Given the description of an element on the screen output the (x, y) to click on. 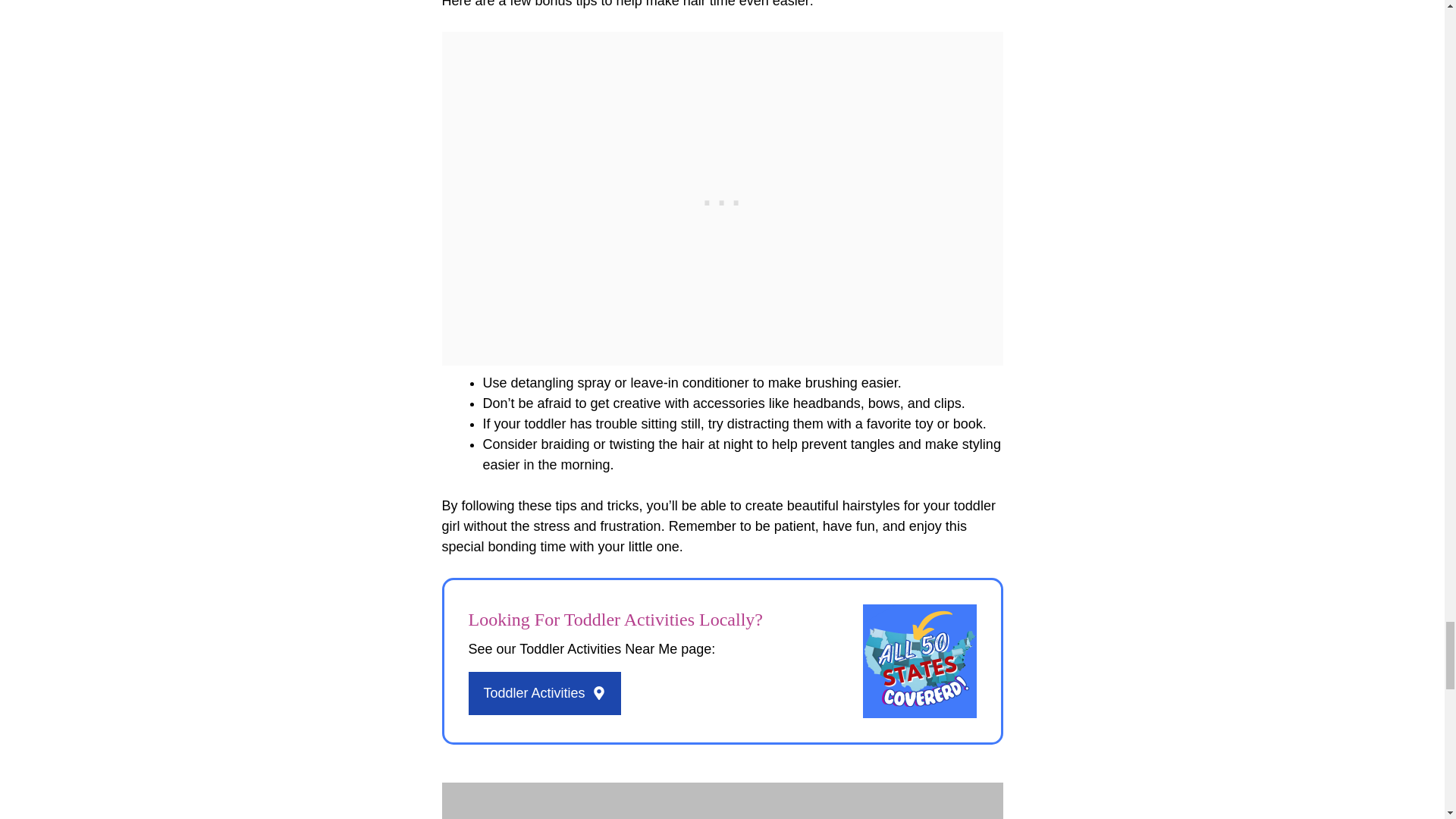
Toddler Activities (544, 692)
toddler activities near me (919, 661)
